Given the description of an element on the screen output the (x, y) to click on. 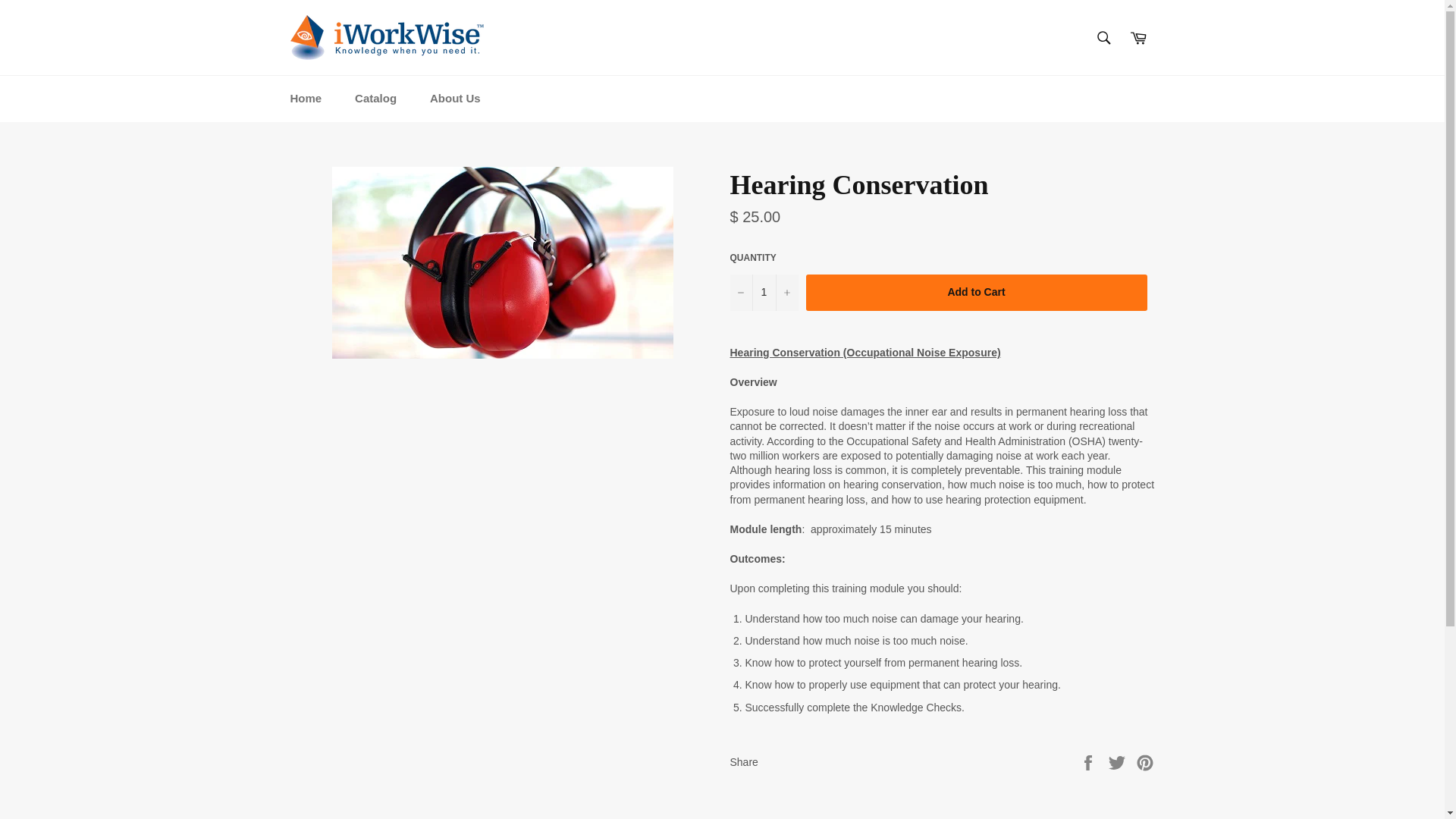
Tweet on Twitter (1118, 761)
Add to Cart (976, 292)
Catalog (375, 99)
Cart (1138, 37)
Pin on Pinterest (1144, 761)
Share on Facebook (1089, 761)
About Us (455, 99)
Tweet on Twitter (1118, 761)
1 (763, 292)
Home (305, 99)
